Given the description of an element on the screen output the (x, y) to click on. 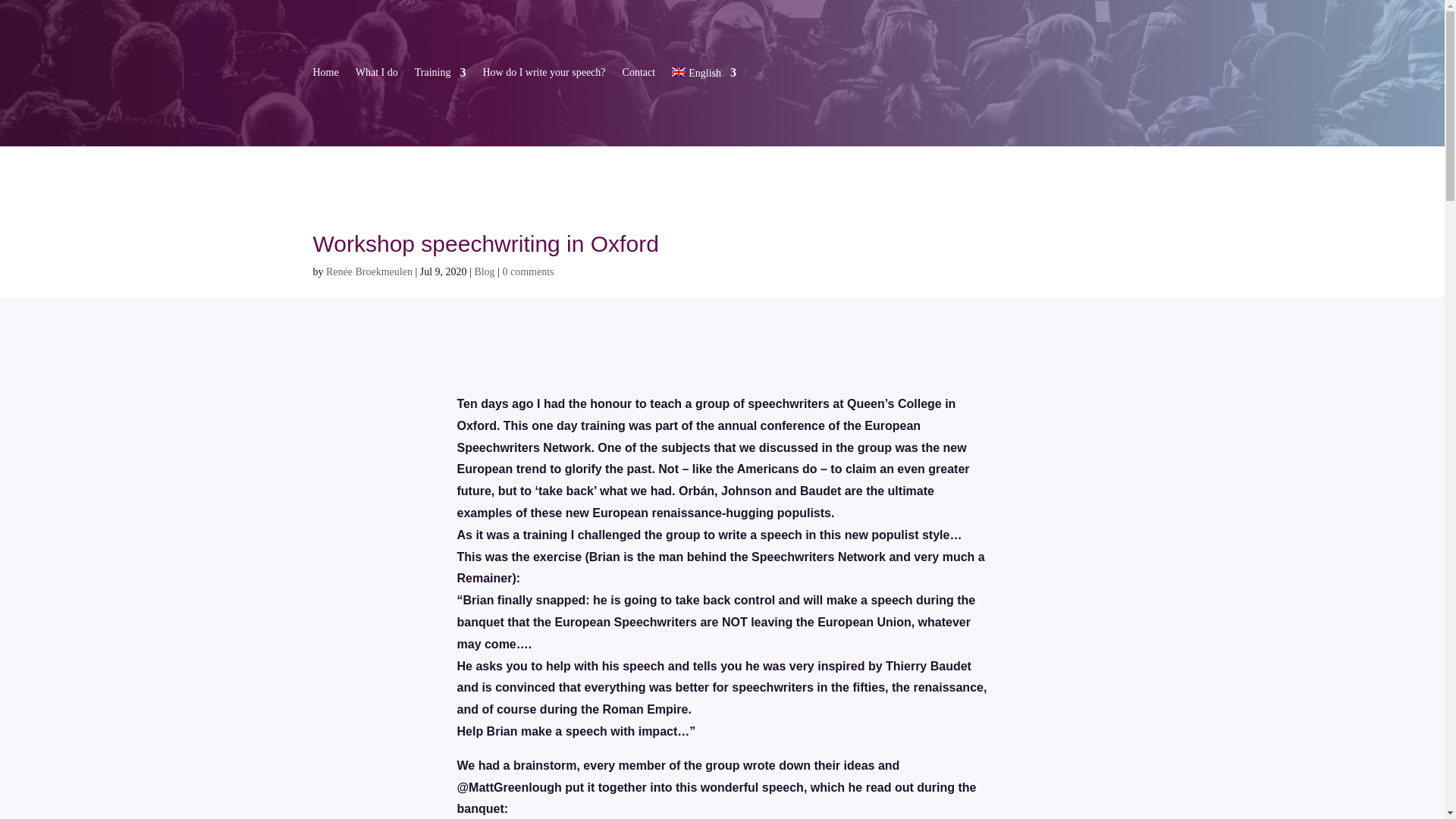
What I do (376, 76)
English (703, 76)
0 comments (527, 271)
Home (325, 76)
Blog (484, 271)
English (703, 76)
Contact (639, 76)
How do I write your speech? (543, 76)
Training (439, 76)
